Given the description of an element on the screen output the (x, y) to click on. 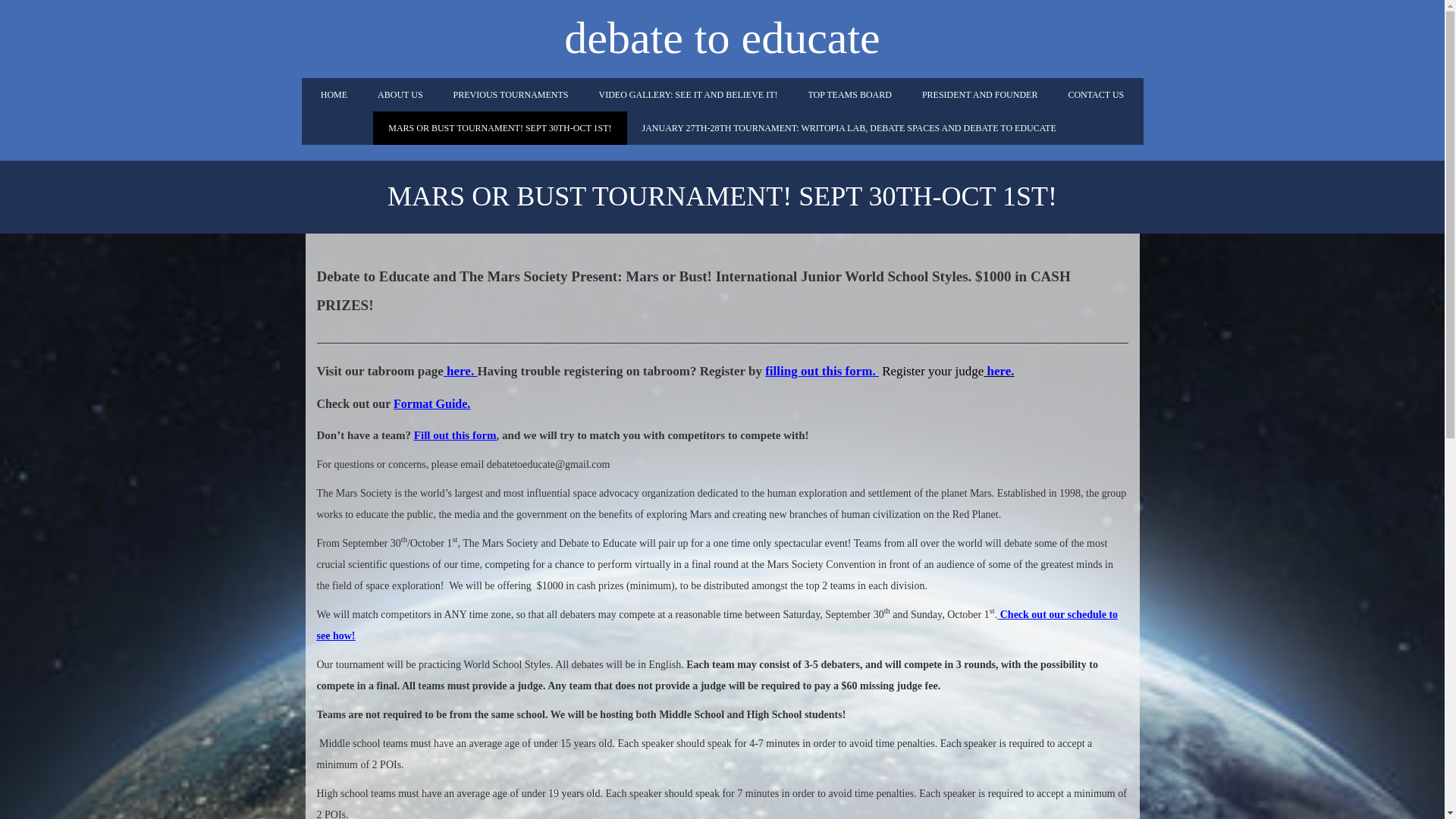
CONTACT US (1095, 94)
Fill out this form (454, 435)
PREVIOUS TOURNAMENTS (510, 94)
Format Guide. (431, 403)
VIDEO GALLERY: SEE IT AND BELIEVE IT! (687, 94)
filling out this form (818, 370)
here. (998, 370)
TOP TEAMS BOARD (848, 94)
HOME (333, 94)
